Given the description of an element on the screen output the (x, y) to click on. 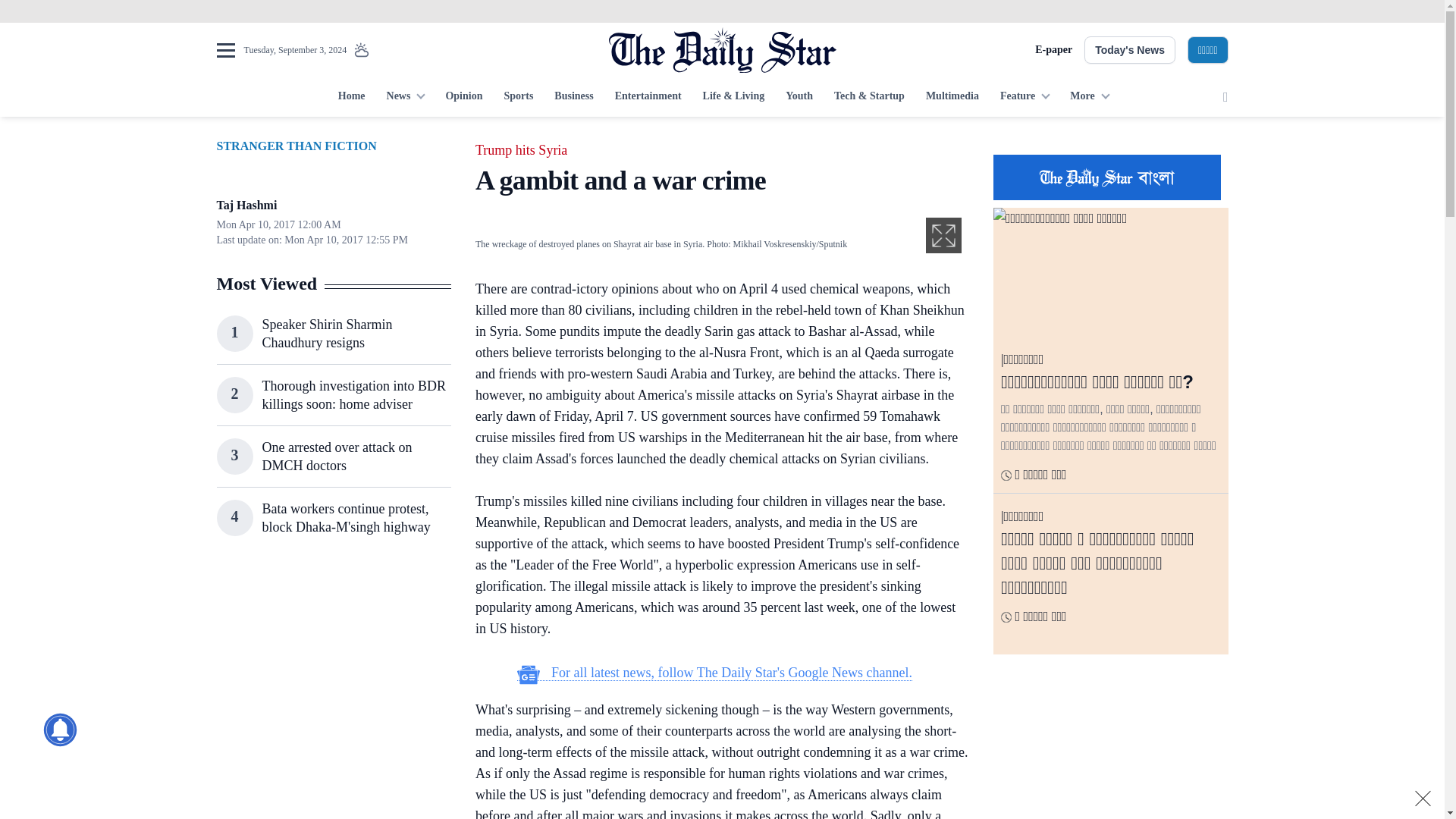
Today's News (1129, 49)
Sports (518, 96)
Home (351, 96)
Youth (799, 96)
Feature (1024, 96)
E-paper (1053, 49)
Entertainment (647, 96)
Opinion (463, 96)
Multimedia (952, 96)
